Given the description of an element on the screen output the (x, y) to click on. 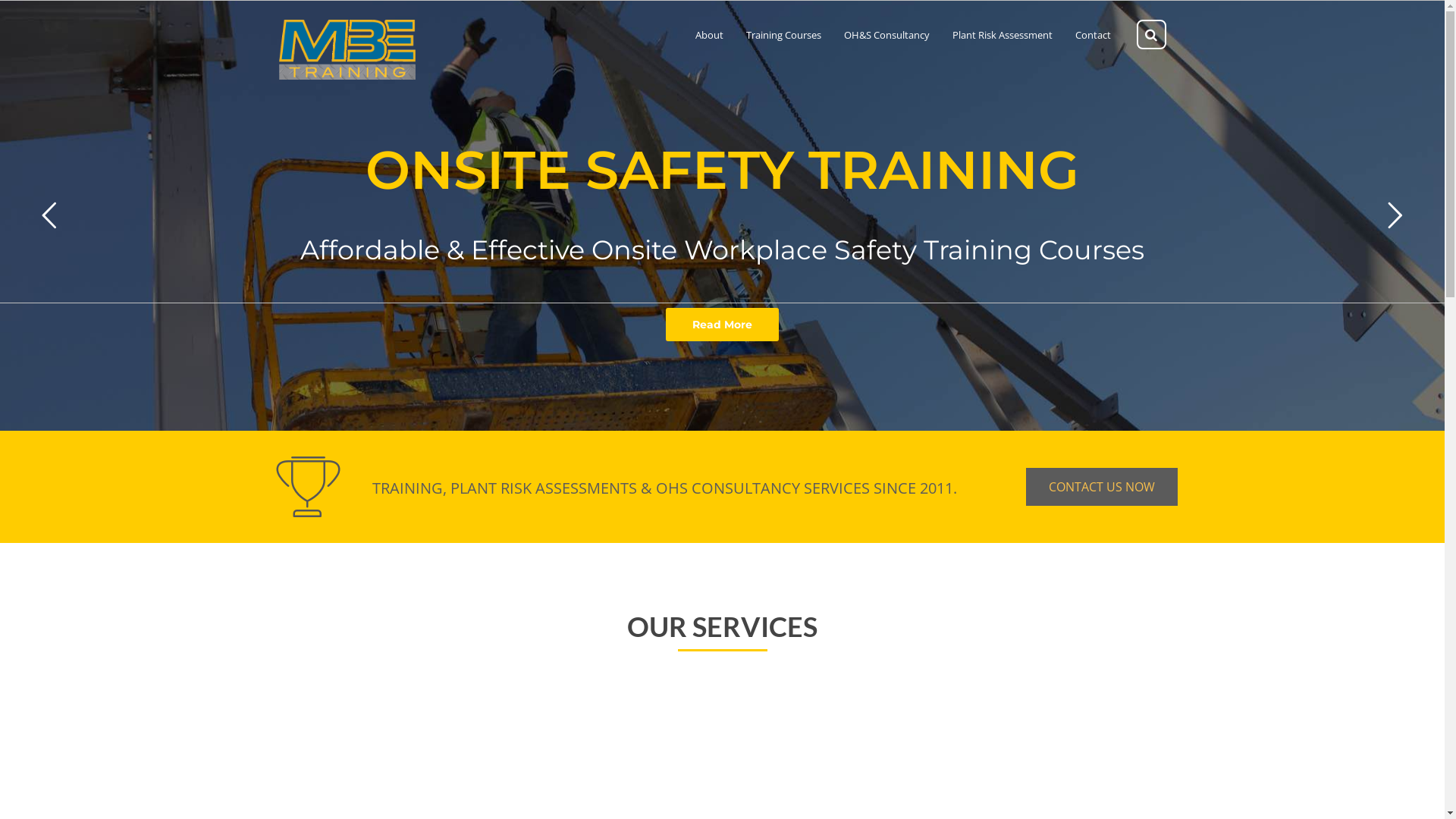
OH&S Consultancy Element type: text (885, 34)
CONTACT US NOW Element type: text (1100, 486)
Training Courses Element type: text (783, 34)
Plant Risk Assessment Element type: text (1002, 34)
Contact Element type: text (1092, 34)
About Element type: text (708, 34)
